Given the description of an element on the screen output the (x, y) to click on. 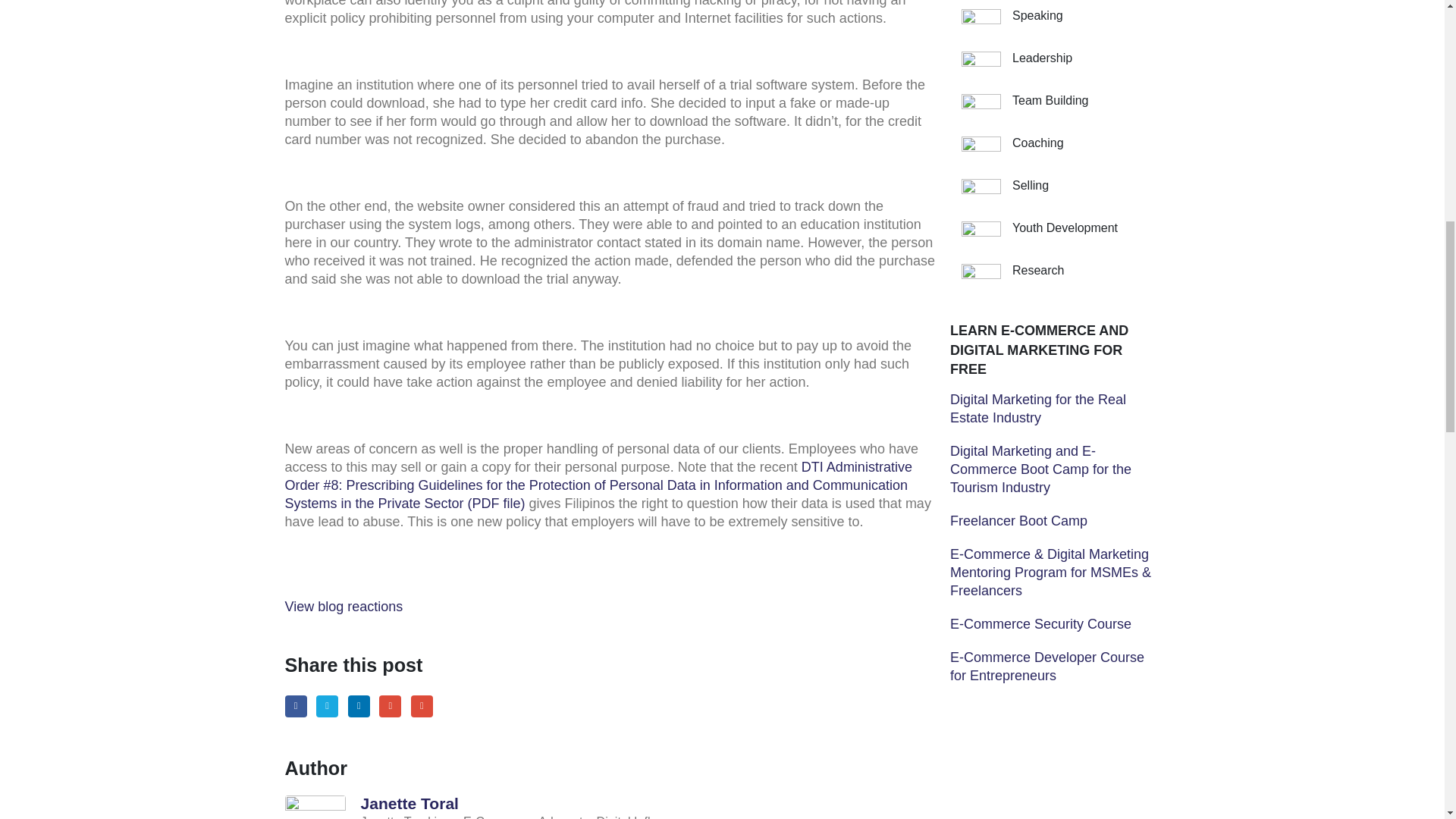
LinkedIn (358, 706)
Email (421, 706)
Facebook (296, 706)
Facebook (296, 706)
Twitter (326, 706)
Janette Toral (409, 803)
Posts by Janette Toral (409, 803)
Email (421, 706)
Twitter (326, 706)
LinkedIn (358, 706)
View blog reactions (344, 606)
